Given the description of an element on the screen output the (x, y) to click on. 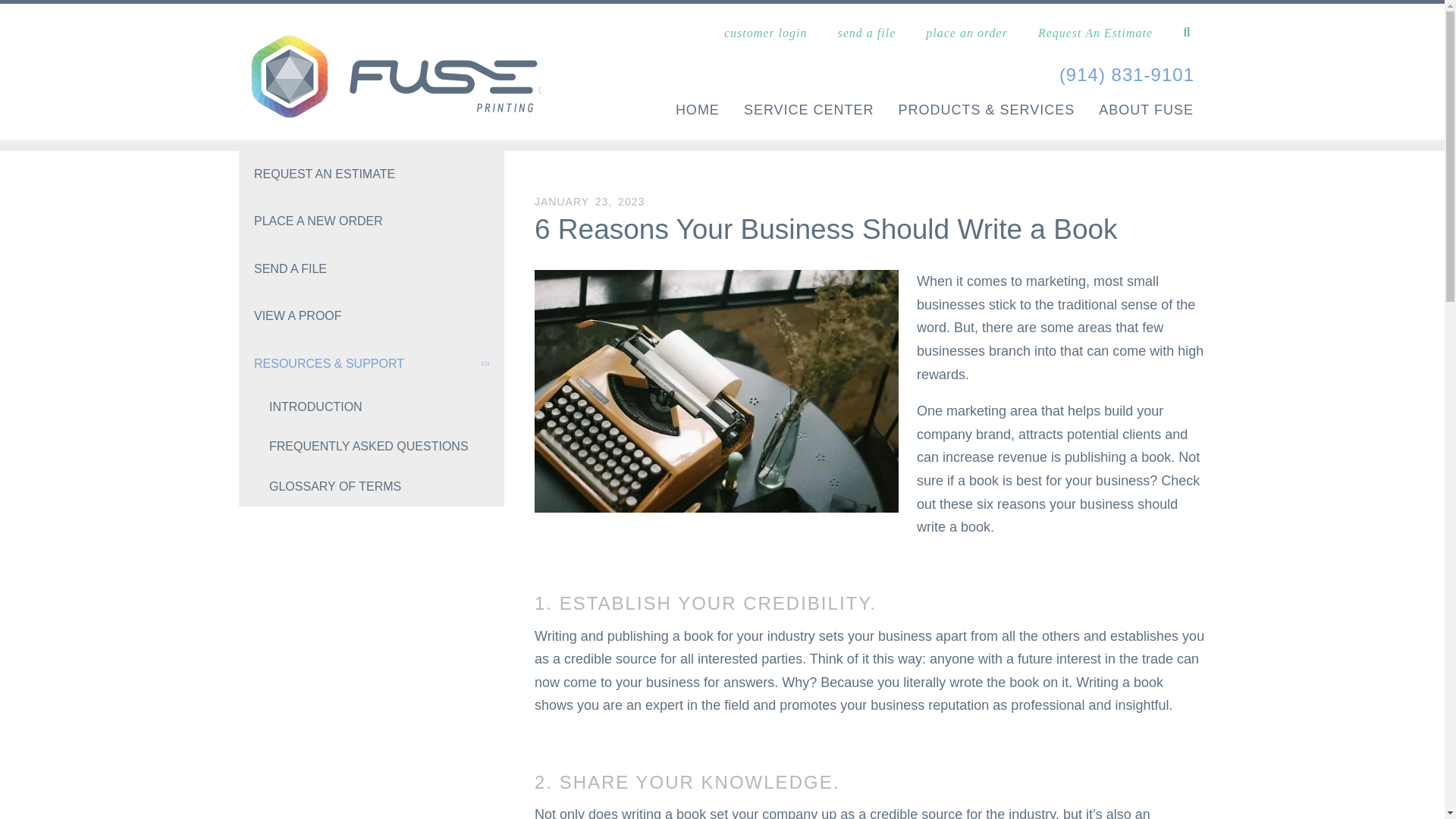
INTRODUCTION (370, 406)
REQUEST AN ESTIMATE (370, 174)
logo (389, 75)
customer login (765, 32)
FREQUENTLY ASKED QUESTIONS (370, 446)
GLOSSARY OF TERMS (370, 486)
SERVICE CENTER (809, 111)
place an order (966, 32)
PLACE A NEW ORDER (370, 221)
ABOUT FUSE (1146, 111)
Request An Estimate (1095, 32)
send a file (866, 32)
VIEW A PROOF (370, 315)
SEND A FILE (370, 268)
HOME (697, 111)
